Given the description of an element on the screen output the (x, y) to click on. 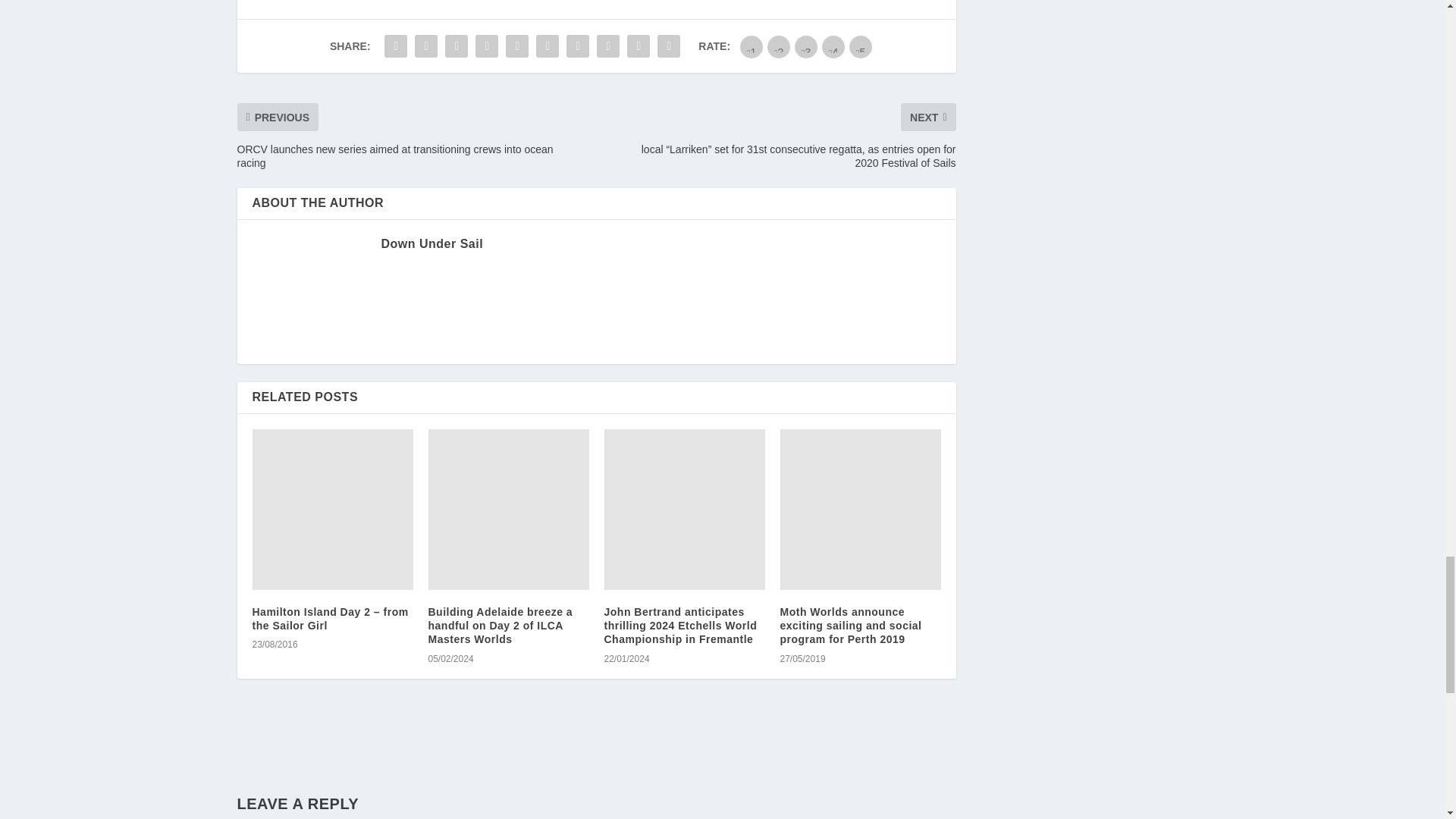
poor (778, 47)
Share "AUSTRALIAN WASZP CHAMPIONSHIPS 2020" via Facebook (395, 46)
Share "AUSTRALIAN WASZP CHAMPIONSHIPS 2020" via Buffer (577, 46)
regular (805, 47)
Share "AUSTRALIAN WASZP CHAMPIONSHIPS 2020" via Tumblr (486, 46)
Share "AUSTRALIAN WASZP CHAMPIONSHIPS 2020" via Print (668, 46)
Share "AUSTRALIAN WASZP CHAMPIONSHIPS 2020" via LinkedIn (547, 46)
Share "AUSTRALIAN WASZP CHAMPIONSHIPS 2020" via Twitter (425, 46)
bad (750, 47)
Share "AUSTRALIAN WASZP CHAMPIONSHIPS 2020" via Pinterest (517, 46)
Share "AUSTRALIAN WASZP CHAMPIONSHIPS 2020" via Email (638, 46)
Share "AUSTRALIAN WASZP CHAMPIONSHIPS 2020" via Stumbleupon (607, 46)
